Given the description of an element on the screen output the (x, y) to click on. 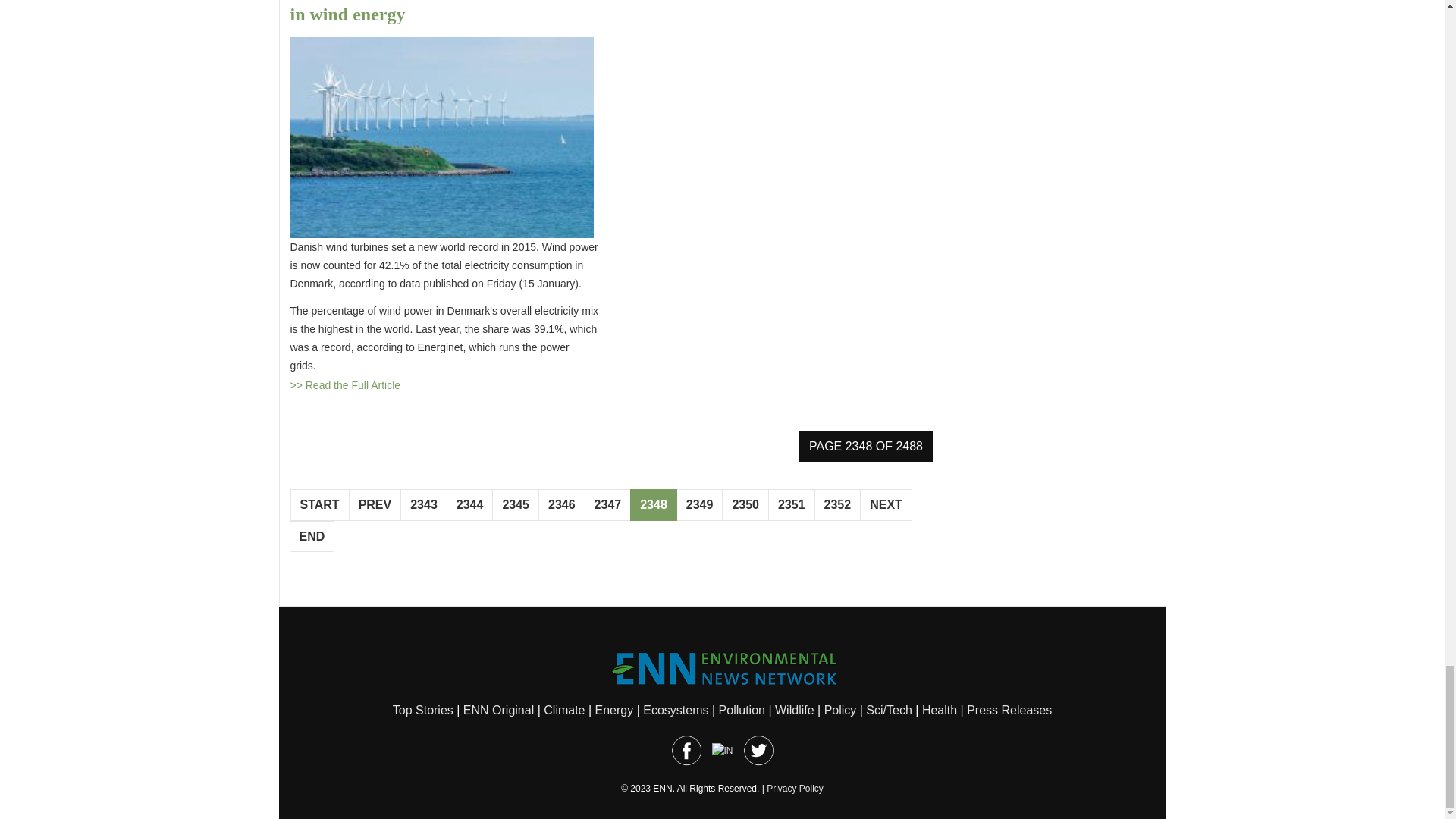
2350 (745, 504)
2347 (608, 504)
Prev (375, 504)
2351 (791, 504)
2343 (423, 504)
Next (886, 504)
2345 (515, 504)
2349 (700, 504)
Start (319, 504)
End (311, 536)
